Given the description of an element on the screen output the (x, y) to click on. 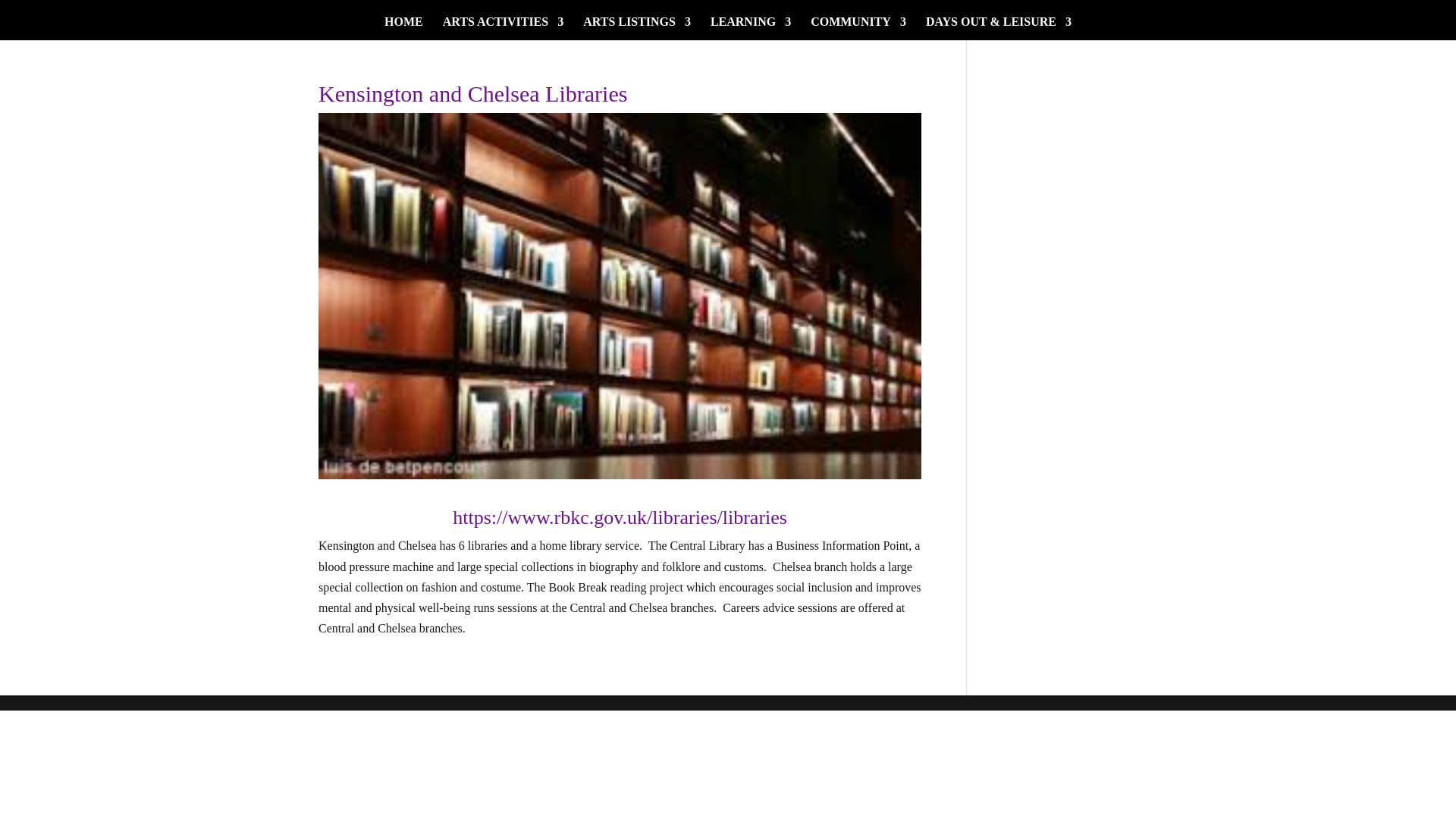
ARTS ACTIVITIES (503, 28)
ARTS LISTINGS (636, 28)
HOME (403, 28)
